Given the description of an element on the screen output the (x, y) to click on. 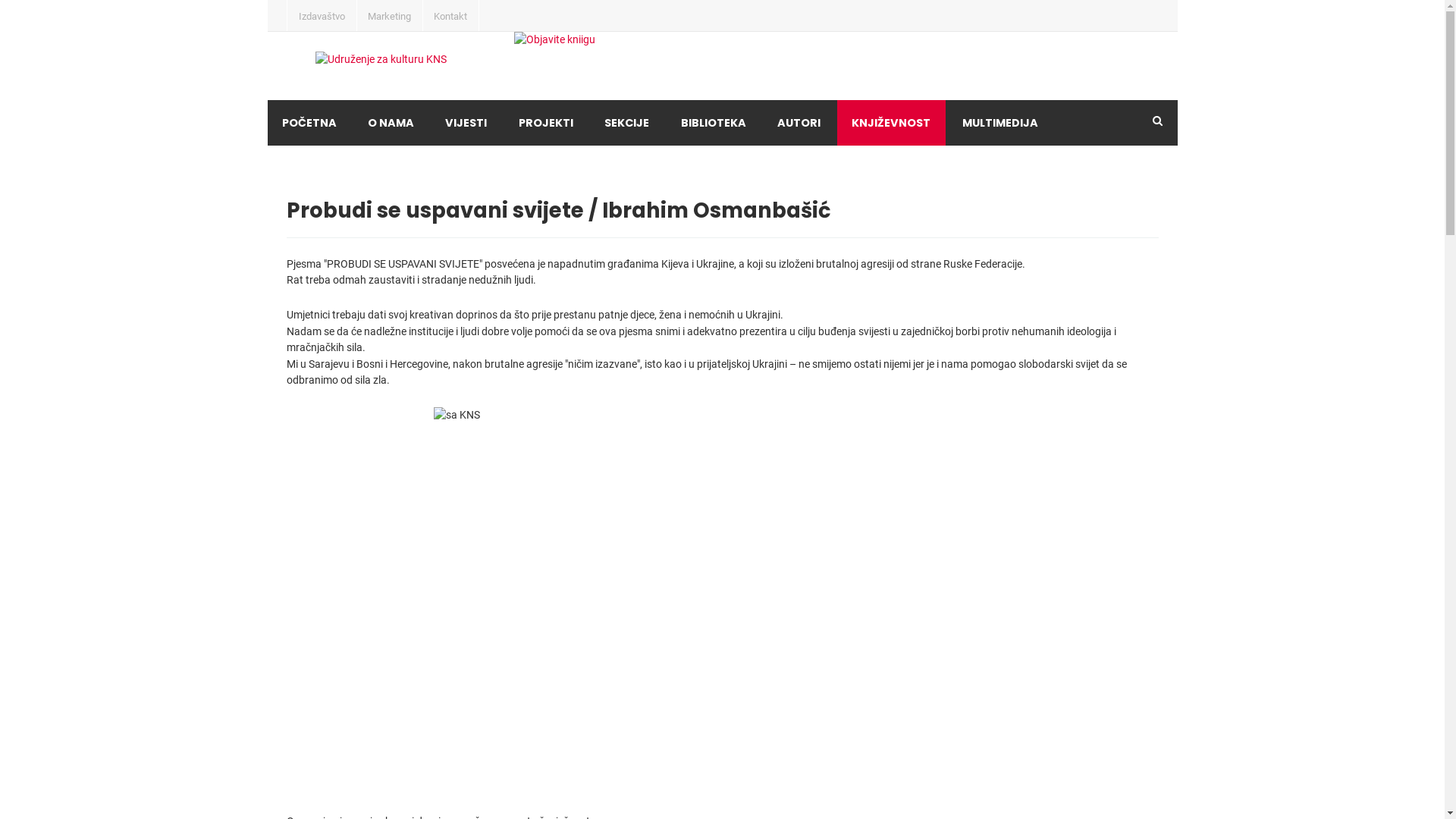
BIBLIOTEKA Element type: text (712, 122)
AUTORI Element type: text (798, 122)
SEKCIJE Element type: text (626, 122)
Kontakt Element type: text (449, 15)
O NAMA Element type: text (390, 122)
VIJESTI Element type: text (465, 122)
PROJEKTI Element type: text (545, 122)
Objavite kniigu Element type: hover (790, 65)
MULTIMEDIJA Element type: text (999, 122)
Marketing Element type: text (389, 15)
